Given the description of an element on the screen output the (x, y) to click on. 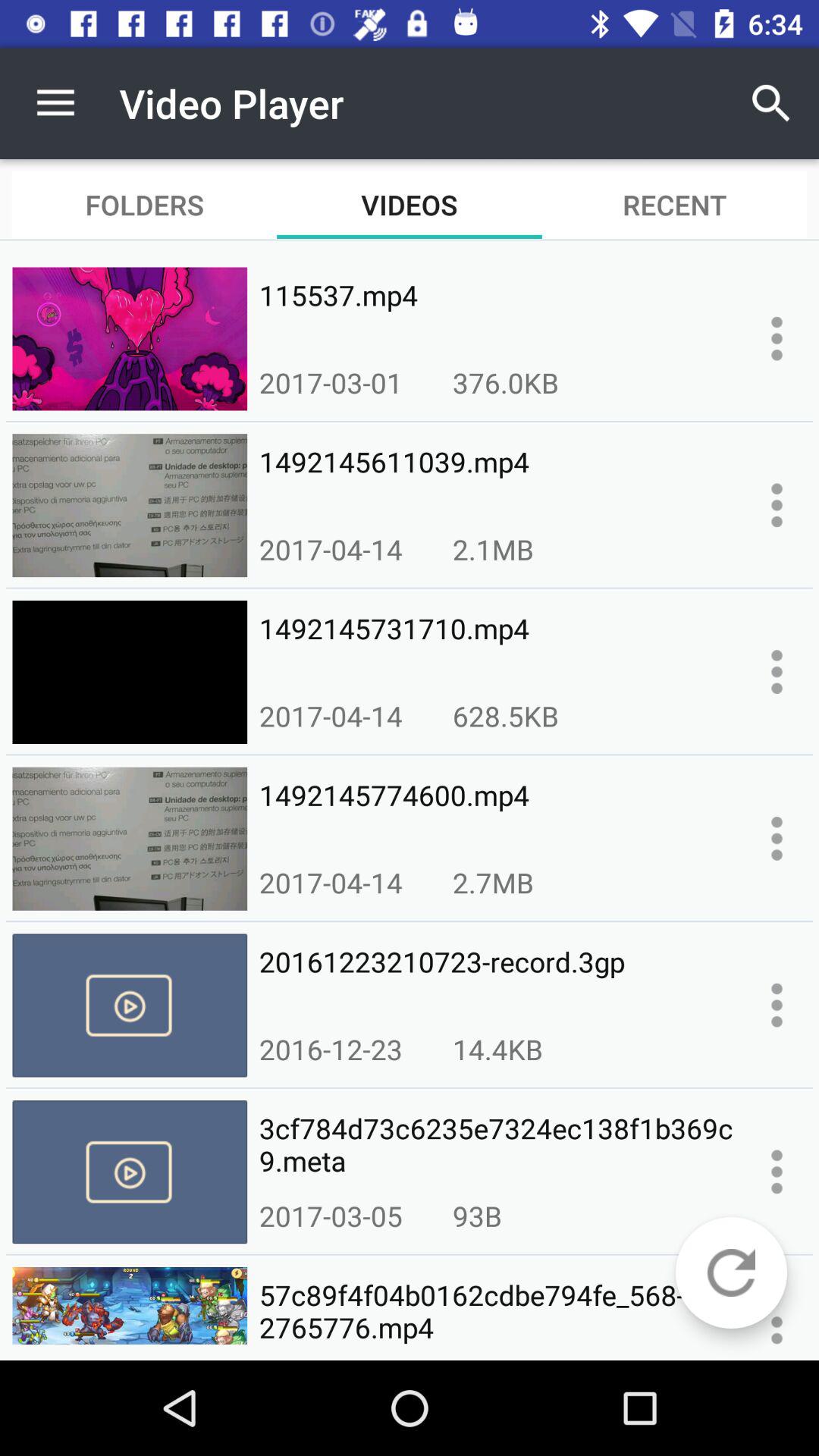
turn on icon below the 3cf784d73c6235e7324ec138f1b369c9.meta (477, 1215)
